Given the description of an element on the screen output the (x, y) to click on. 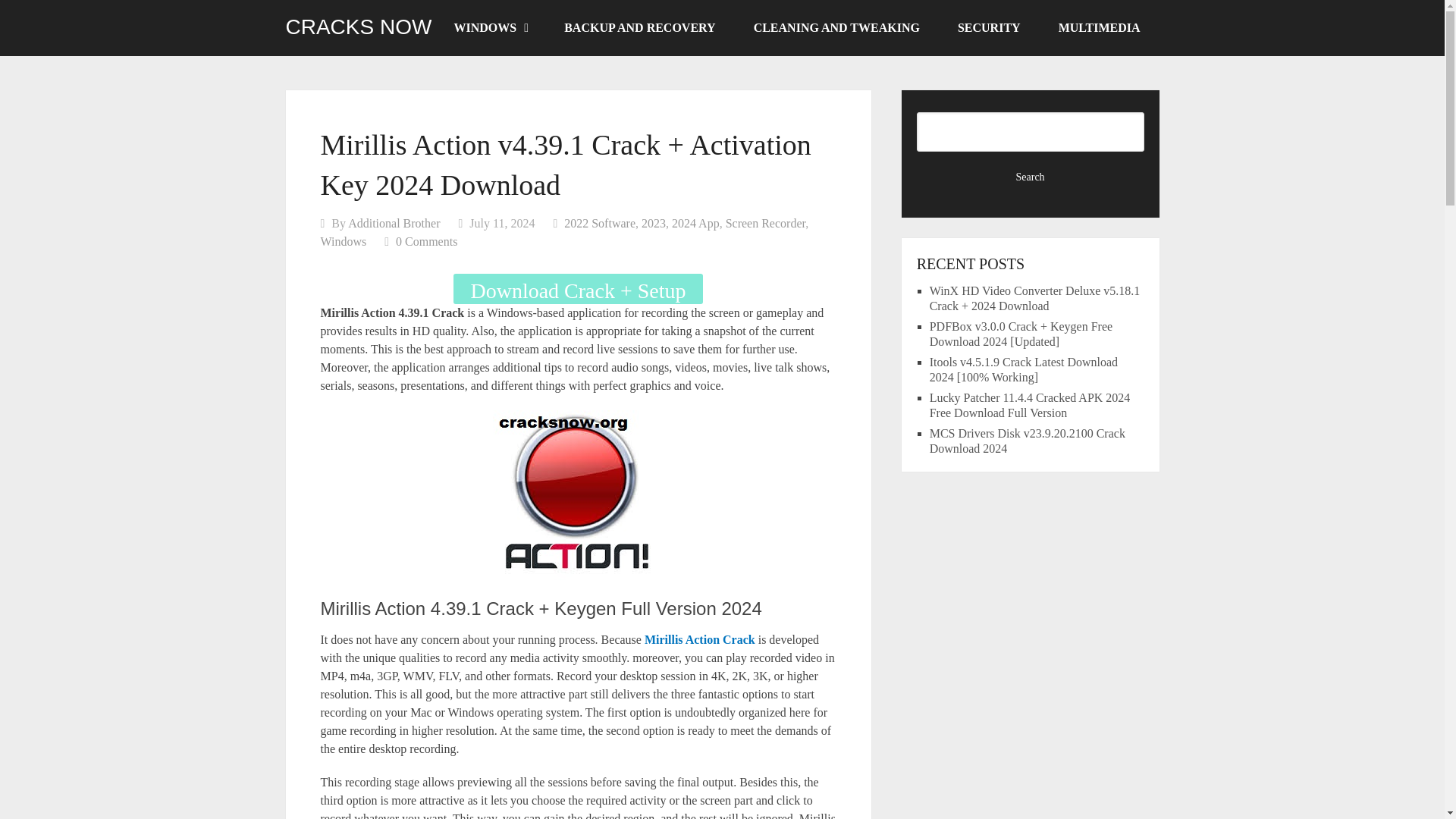
WINDOWS (490, 28)
CLEANING AND TWEAKING (837, 28)
Search (1030, 176)
Screen Recorder (765, 223)
0 Comments (426, 241)
Posts by Additional Brother (393, 223)
Windows (343, 241)
SECURITY (989, 28)
MULTIMEDIA (1098, 28)
BACKUP AND RECOVERY (638, 28)
